Given the description of an element on the screen output the (x, y) to click on. 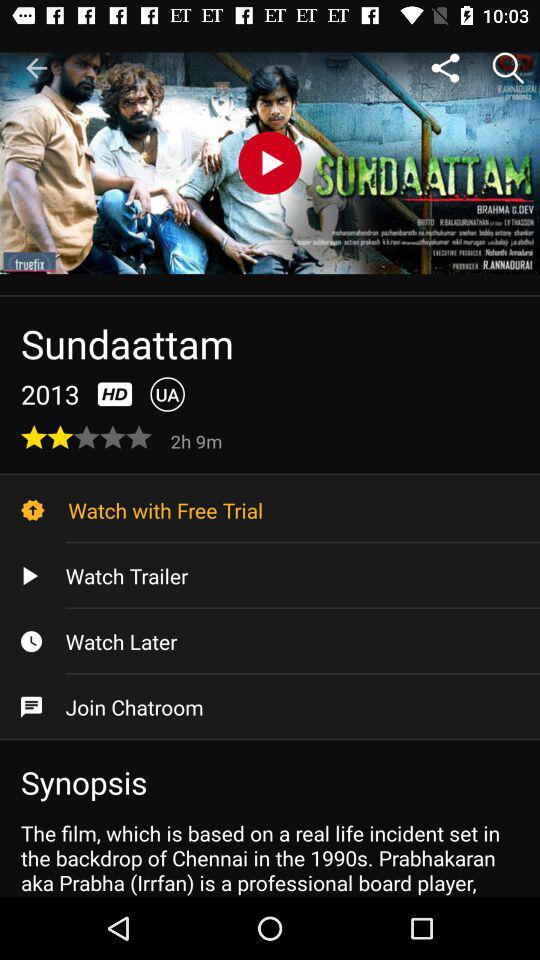
tap icon at the top left corner (36, 68)
